Given the description of an element on the screen output the (x, y) to click on. 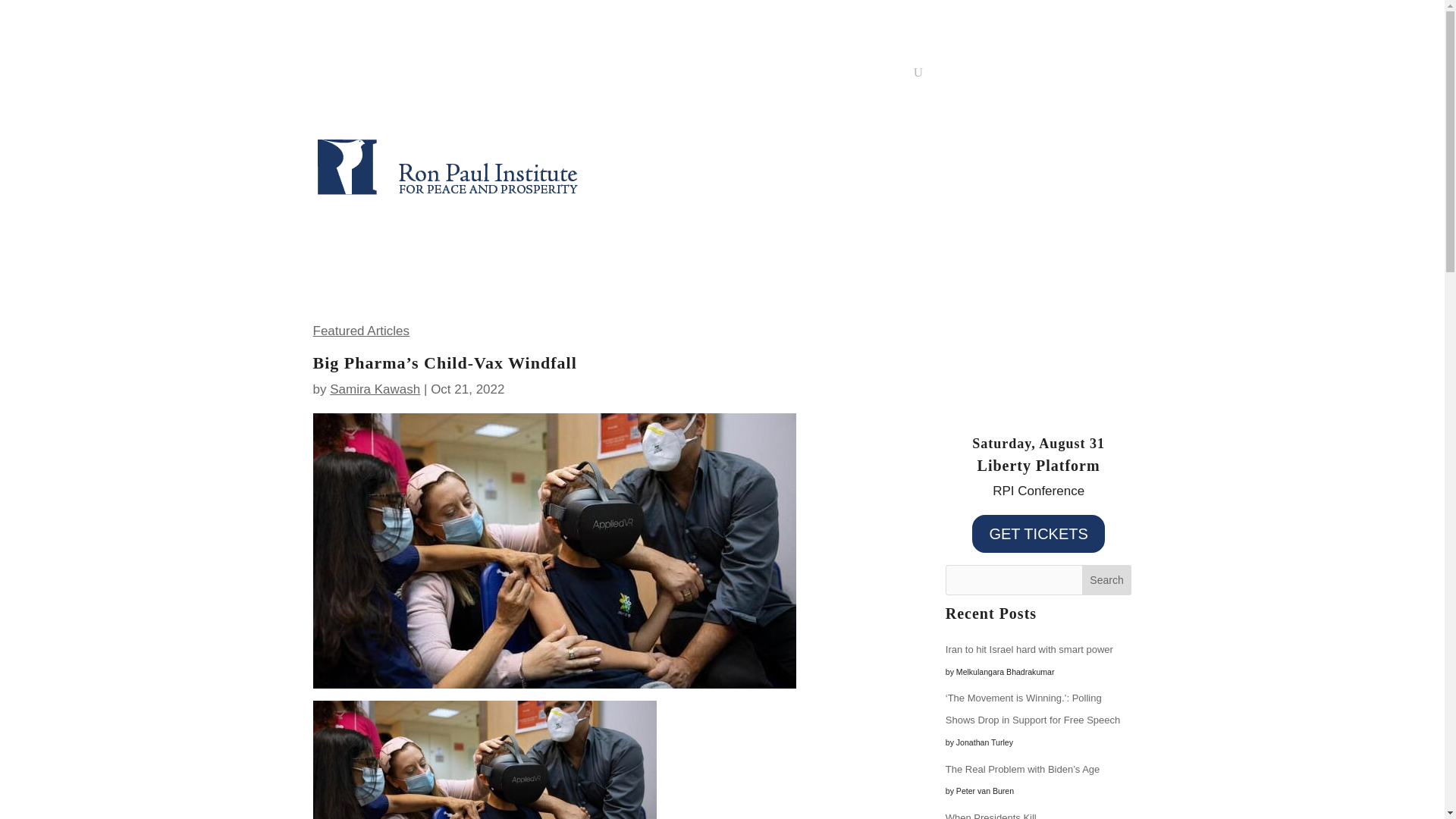
Follow on X (1088, 137)
Saturday, August 31 (1038, 443)
vr-shot-vaccine-child-jpg (553, 550)
Contact (823, 75)
Posts by Samira Kawash (375, 389)
When Presidents Kill (990, 815)
Follow on Youtube (1118, 137)
Home (527, 75)
GET TICKETS (1037, 533)
Samira Kawash (375, 389)
Programs (641, 75)
Featured Articles (361, 330)
rpilogo-final (447, 161)
Follow on Facebook (1058, 137)
Iran to hit Israel hard with smart power (1028, 649)
